Given the description of an element on the screen output the (x, y) to click on. 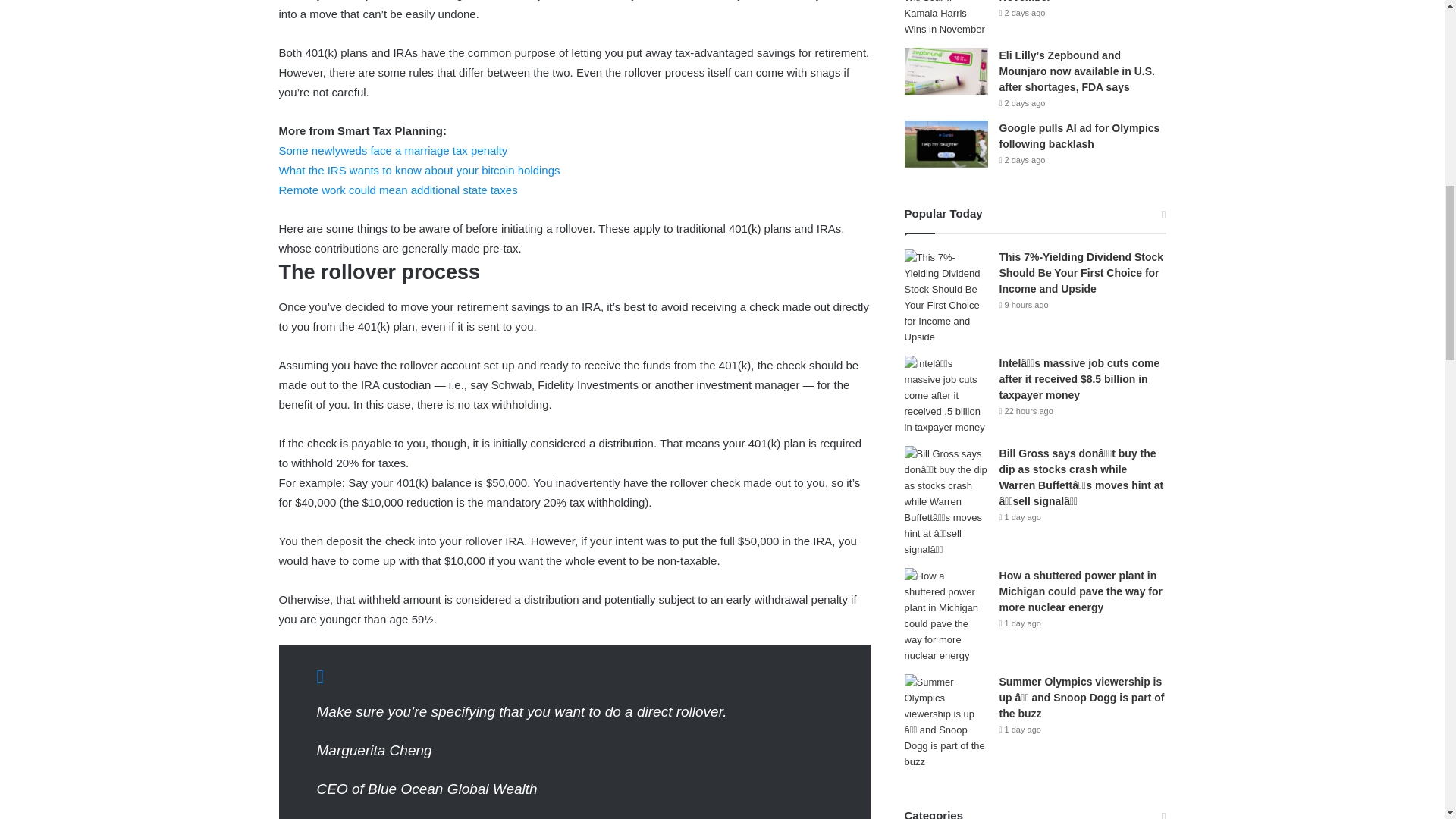
Some newlyweds face a marriage tax penalty (393, 150)
What the IRS wants to know about your bitcoin holdings (419, 169)
Remote work could mean additional state taxes (398, 189)
